Given the description of an element on the screen output the (x, y) to click on. 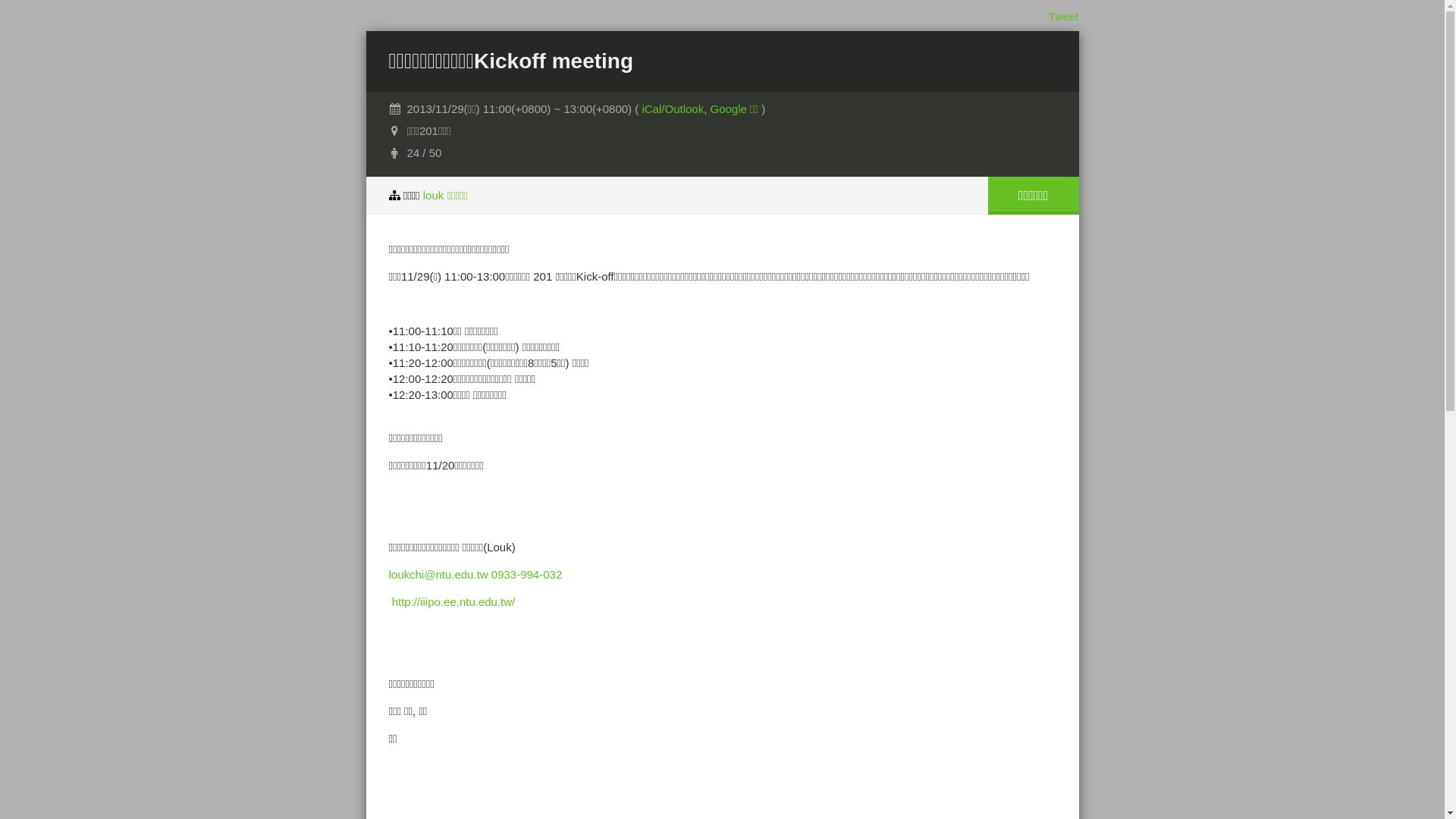
Tweet Element type: text (1063, 15)
0933-994-032 Element type: text (526, 573)
loukchi@ntu.edu.tw Element type: text (437, 573)
http://iiipo.ee.ntu.edu.tw/ Element type: text (453, 601)
iCal/Outlook Element type: text (672, 108)
